Given the description of an element on the screen output the (x, y) to click on. 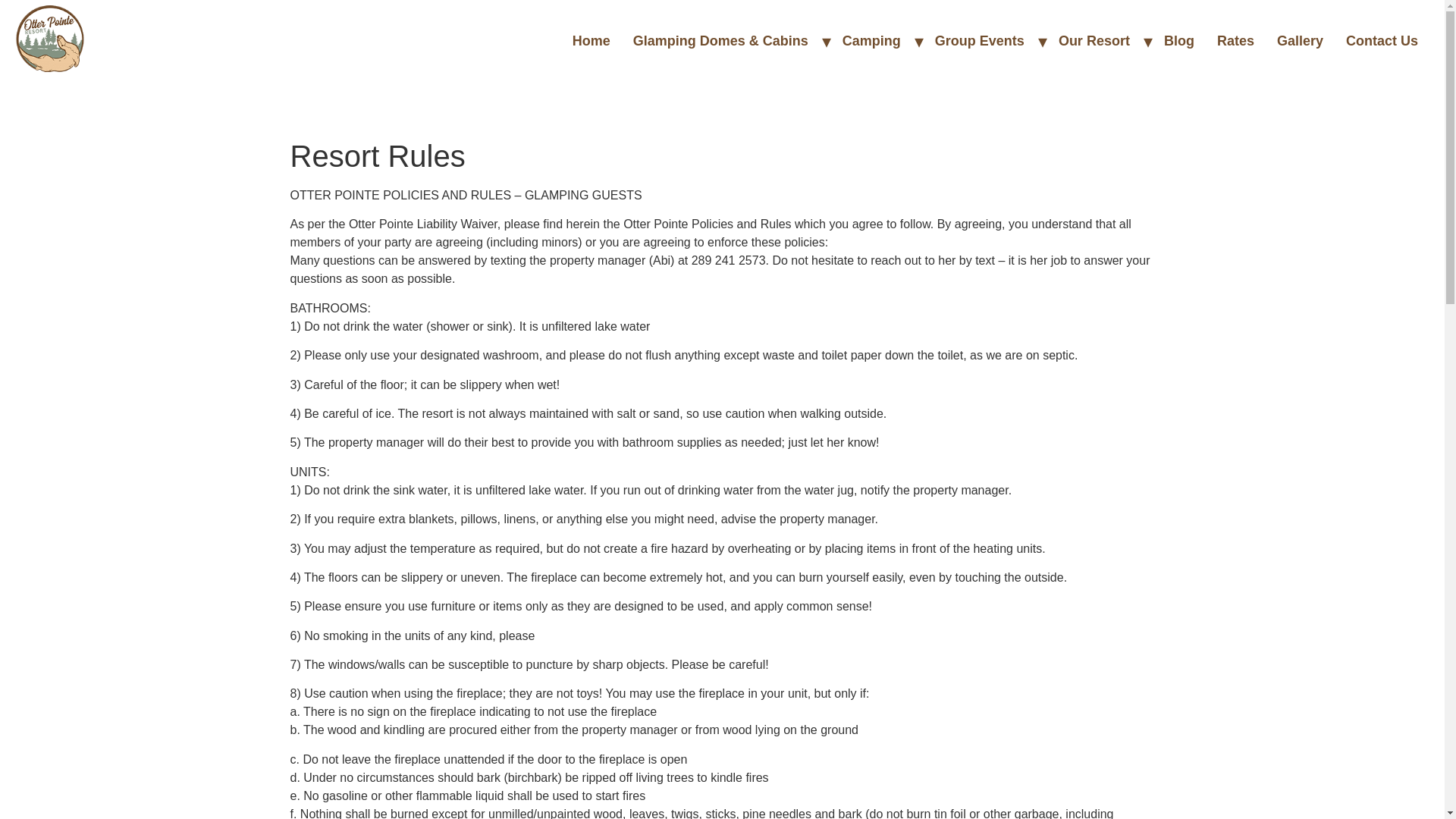
Home (590, 41)
Rates (1235, 41)
Camping (871, 41)
Our Resort (1093, 41)
Blog (1179, 41)
Group Events (979, 41)
Contact Us (1382, 41)
Gallery (1300, 41)
